Given the description of an element on the screen output the (x, y) to click on. 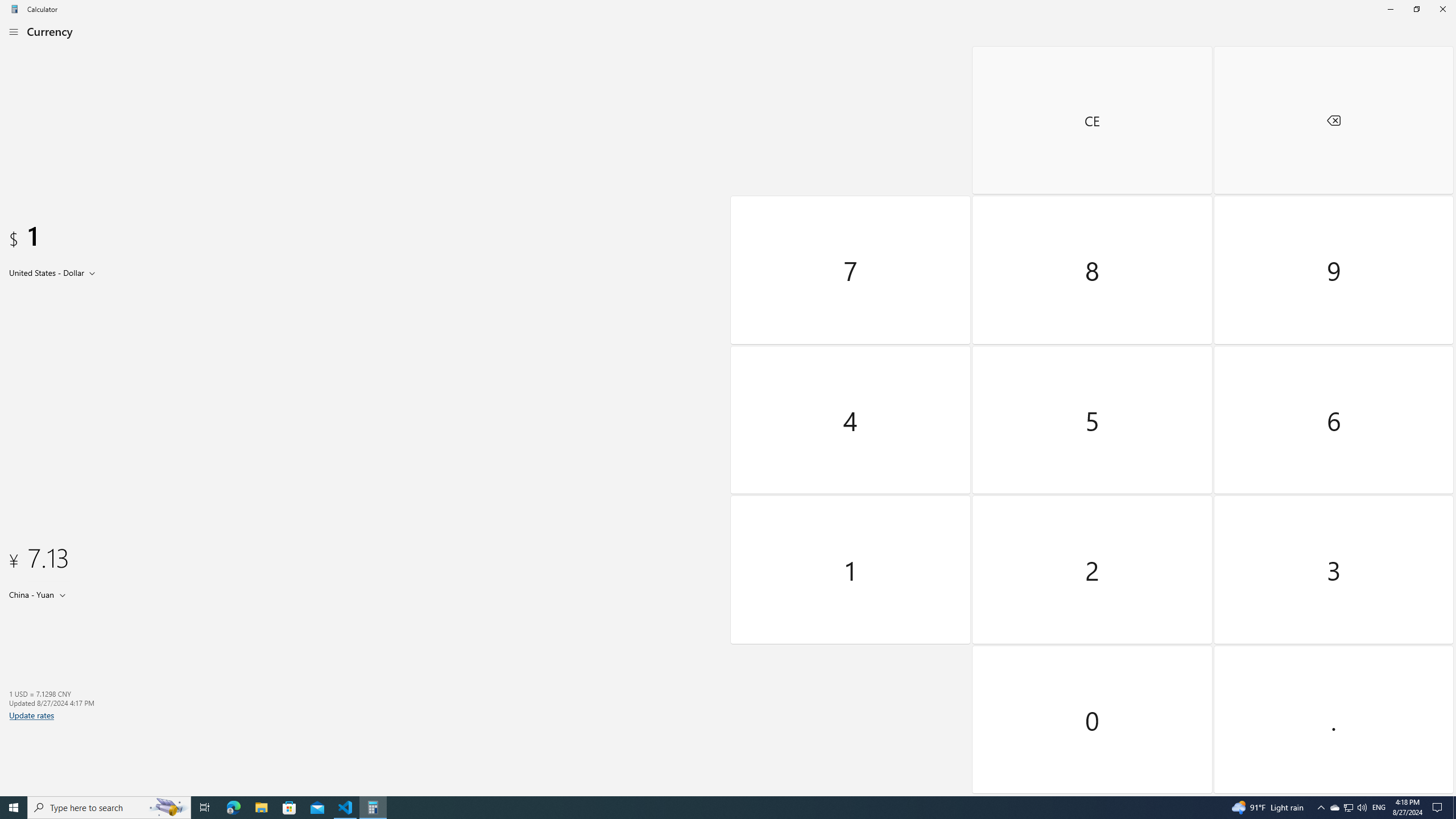
One (850, 569)
Zero (1092, 719)
Minimize Calculator (1390, 9)
Four (850, 419)
Calculator - 1 running window (373, 807)
Seven (850, 269)
Update rates (31, 715)
Six (1333, 419)
Nine (1333, 269)
